Given the description of an element on the screen output the (x, y) to click on. 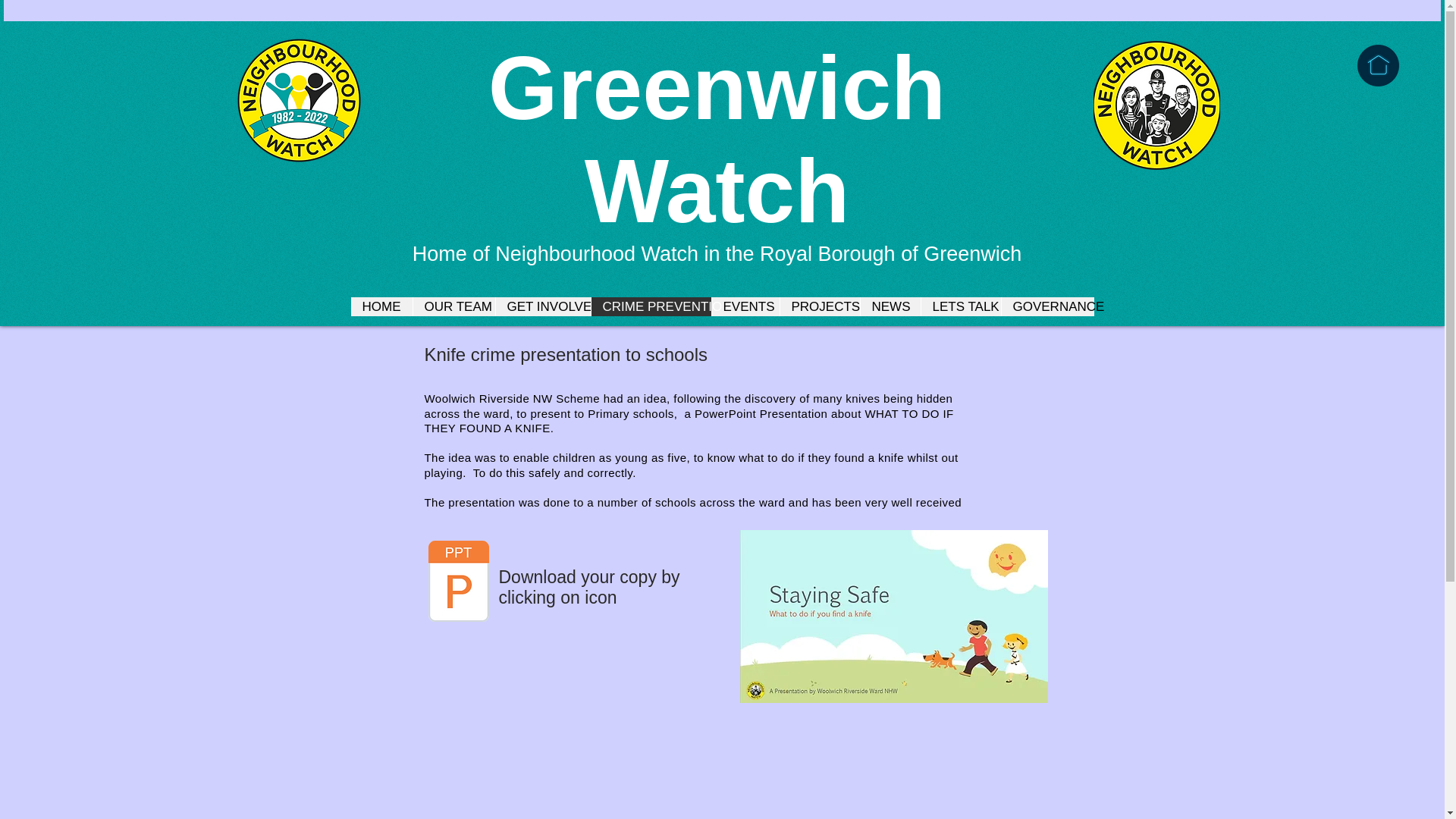
GOVERNANCE (1047, 306)
OUR TEAM (453, 306)
CRIME PREVENTION (649, 306)
HOME (381, 306)
EVENTS (744, 306)
PROJECTS (819, 306)
NEWS (890, 306)
GET INVOLVED (542, 306)
LETS TALK (960, 306)
